Given the description of an element on the screen output the (x, y) to click on. 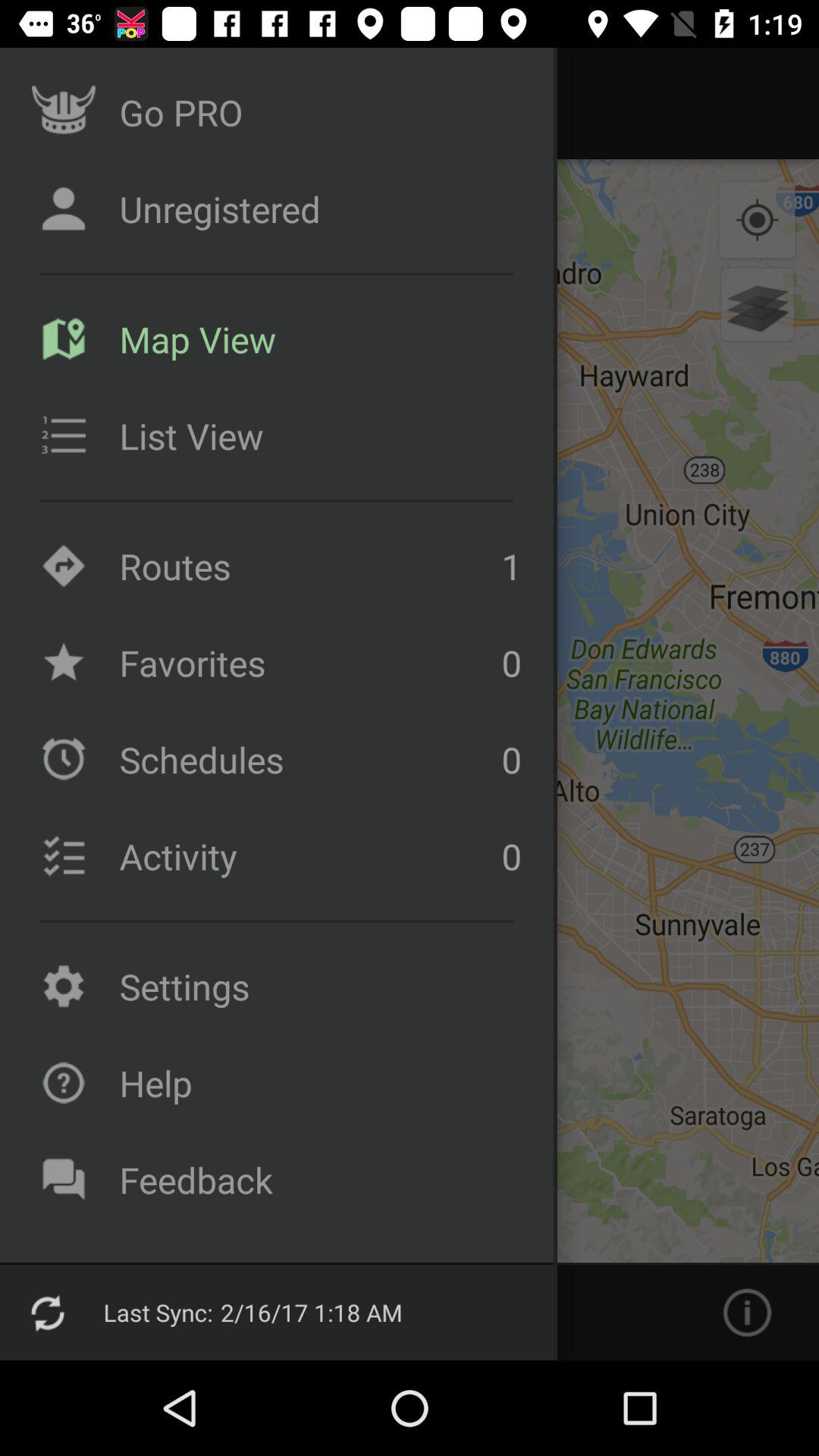
click on the button which is at the top right side of the page (757, 221)
click on the icon beside activity (63, 856)
click on the clock icon beside schedules (63, 758)
